Given the description of an element on the screen output the (x, y) to click on. 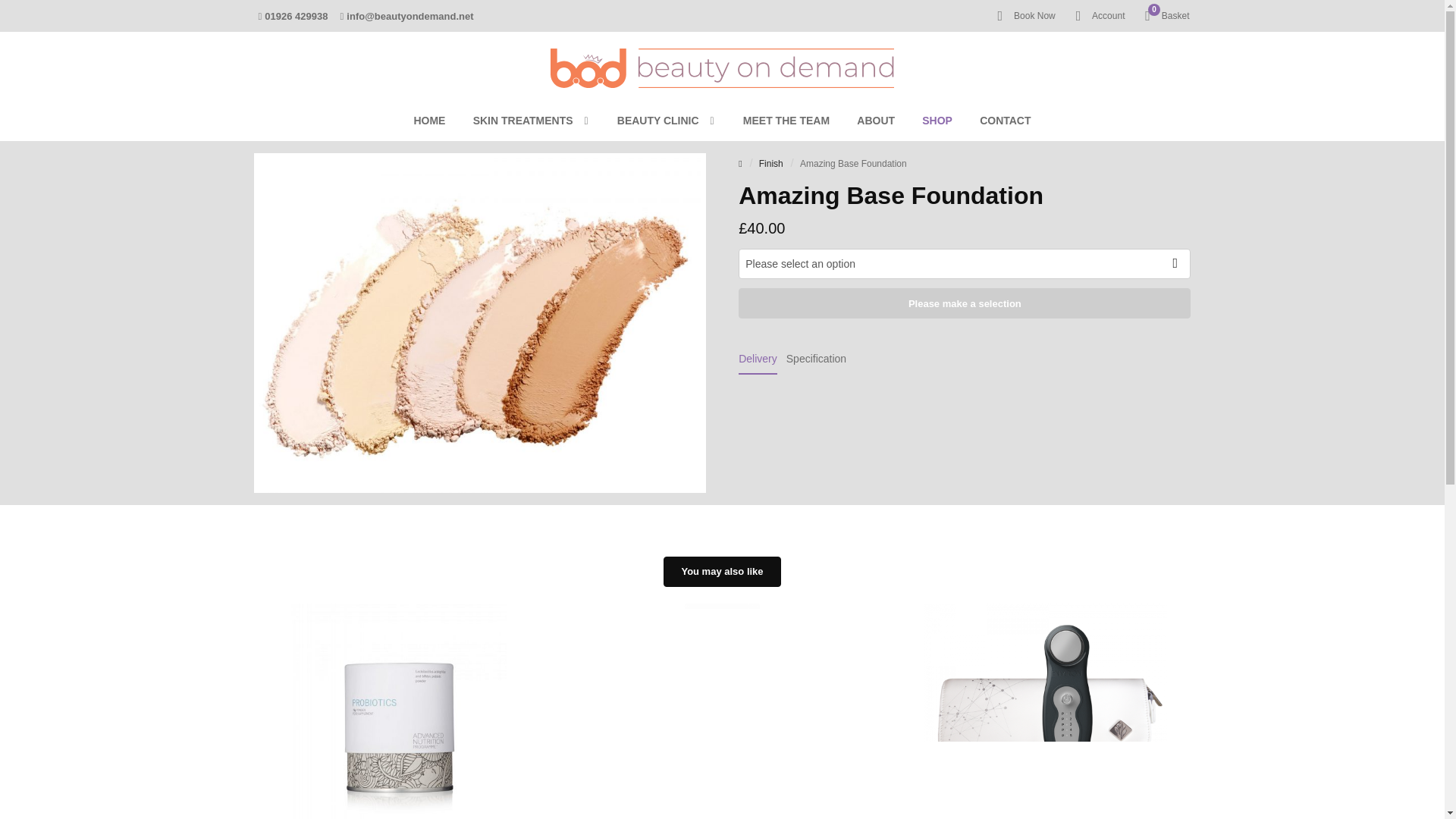
Basket (1163, 15)
HOME (429, 119)
Call (292, 15)
BEAUTY CLINIC (666, 119)
Amazing Base Foundation (1163, 15)
MEET THE TEAM (853, 163)
Beauty on Demand (785, 119)
SHOP (722, 58)
Concentrated Retinol Serum 1 (936, 119)
Specification (721, 711)
Book Now (815, 358)
SKIN TREATMENTS (1022, 15)
Finish (531, 119)
ABOUT (770, 163)
